Given the description of an element on the screen output the (x, y) to click on. 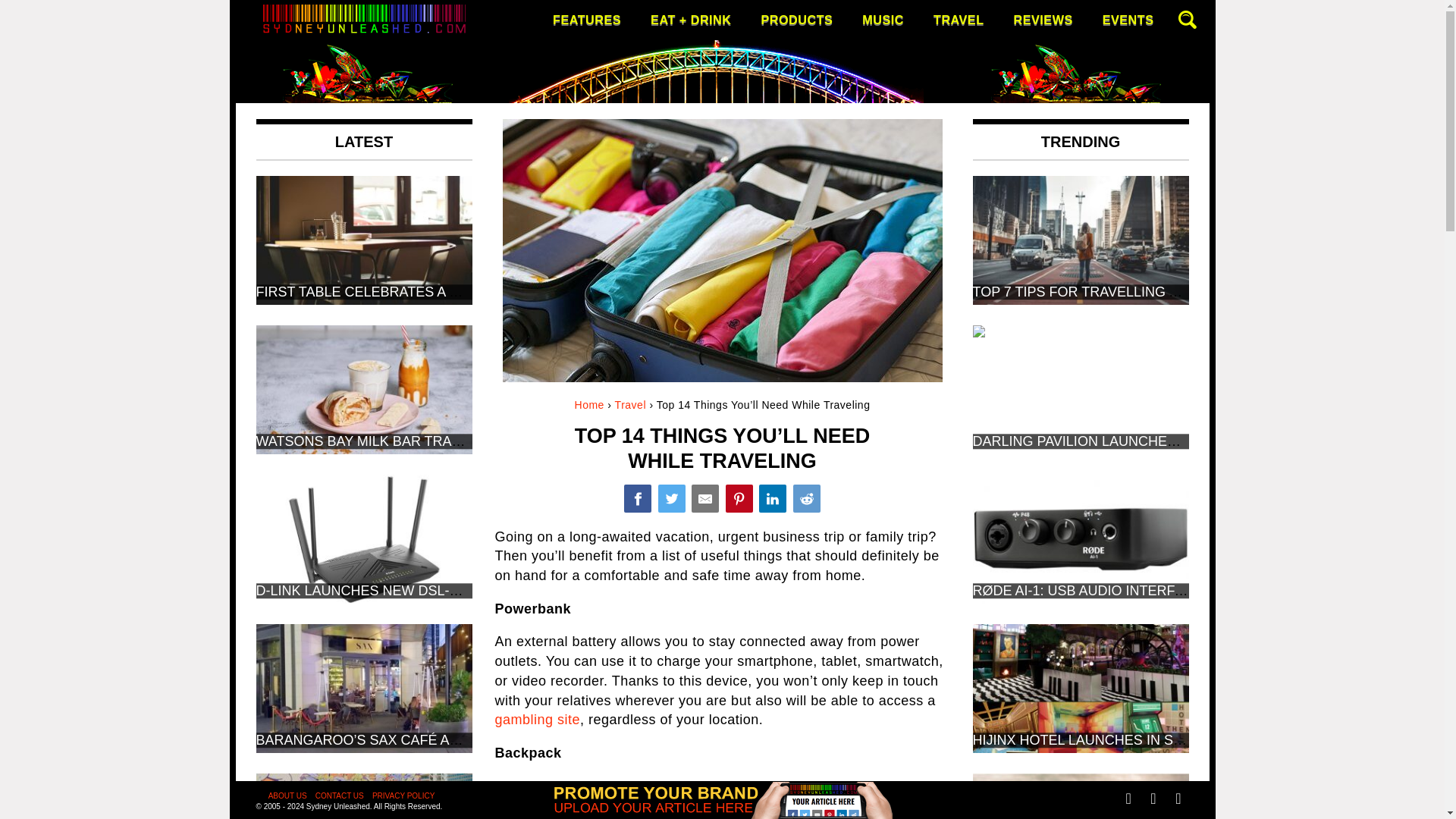
FEATURES (586, 19)
MUSIC (882, 19)
Upload Your Featured Post (721, 812)
REVIEWS (1043, 19)
TRAVEL (958, 19)
Home (589, 404)
gambling site (537, 719)
Travel (630, 404)
PRODUCTS (796, 19)
Sydney Unleashed (326, 149)
Pinterest (738, 497)
EVENTS (1128, 19)
